Given the description of an element on the screen output the (x, y) to click on. 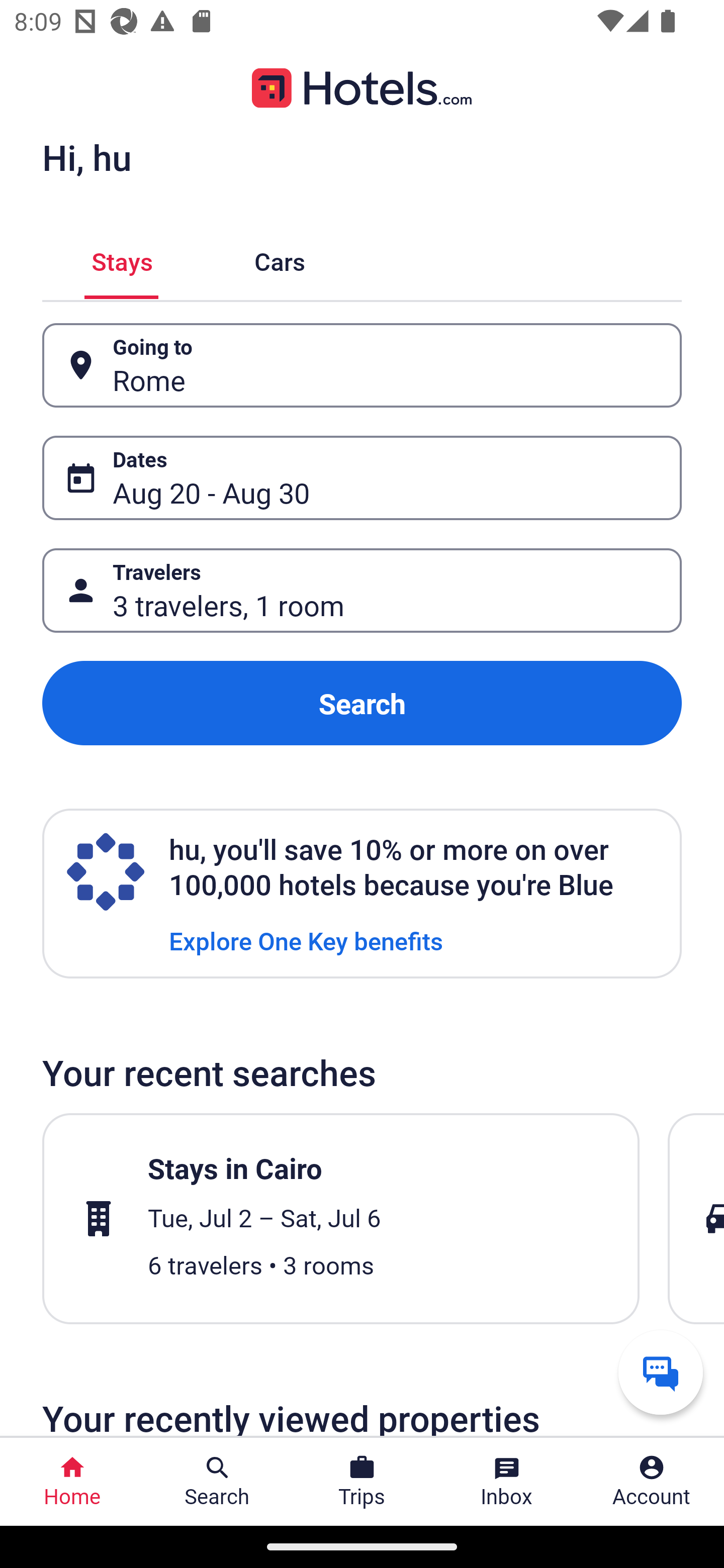
Hi, hu (86, 156)
Cars (279, 259)
Going to Button Rome (361, 365)
Dates Button Aug 20 - Aug 30 (361, 477)
Travelers Button 3 travelers, 1 room (361, 590)
Search (361, 702)
Get help from a virtual agent (660, 1371)
Search Search Button (216, 1481)
Trips Trips Button (361, 1481)
Inbox Inbox Button (506, 1481)
Account Profile. Button (651, 1481)
